Given the description of an element on the screen output the (x, y) to click on. 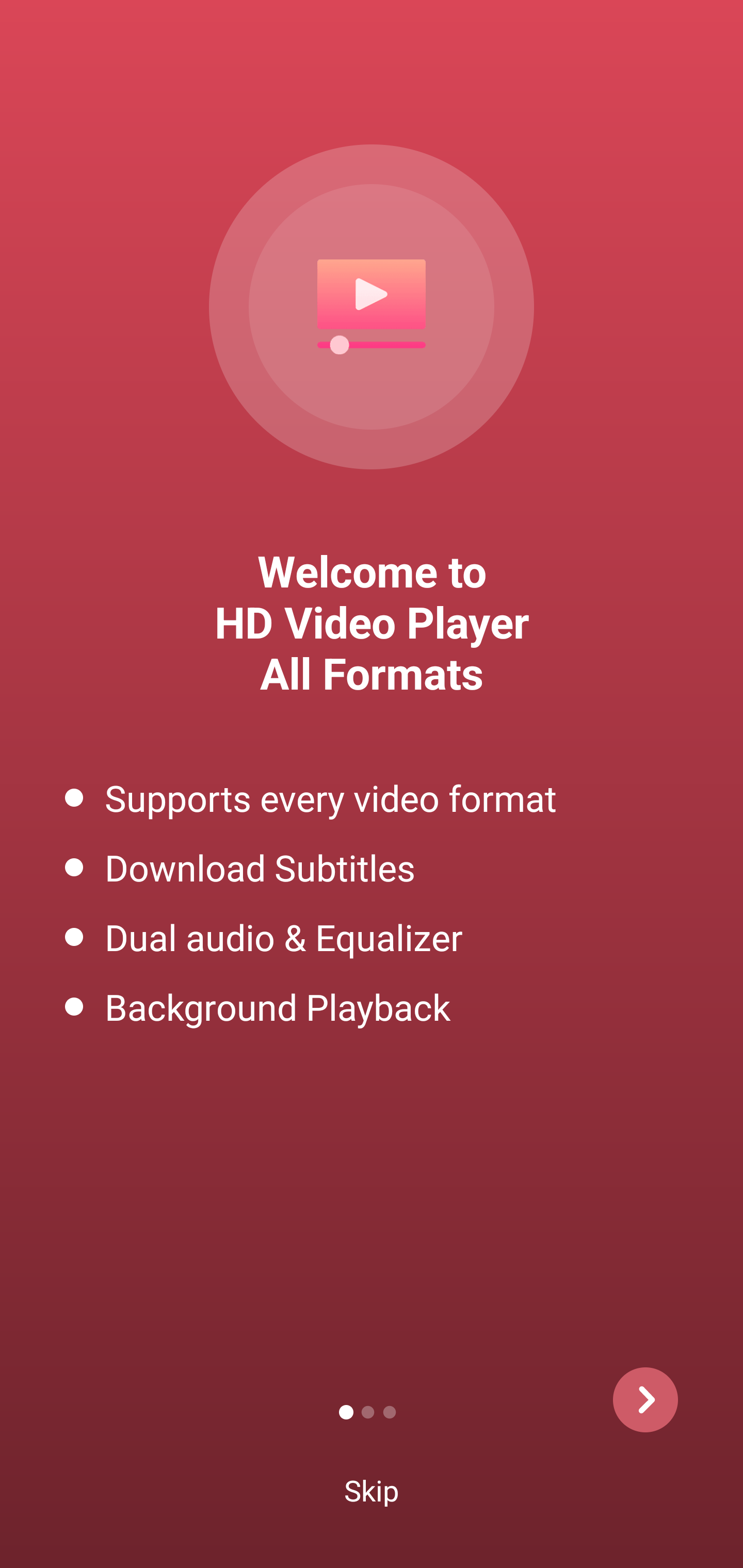
Skip (371, 1487)
